Given the description of an element on the screen output the (x, y) to click on. 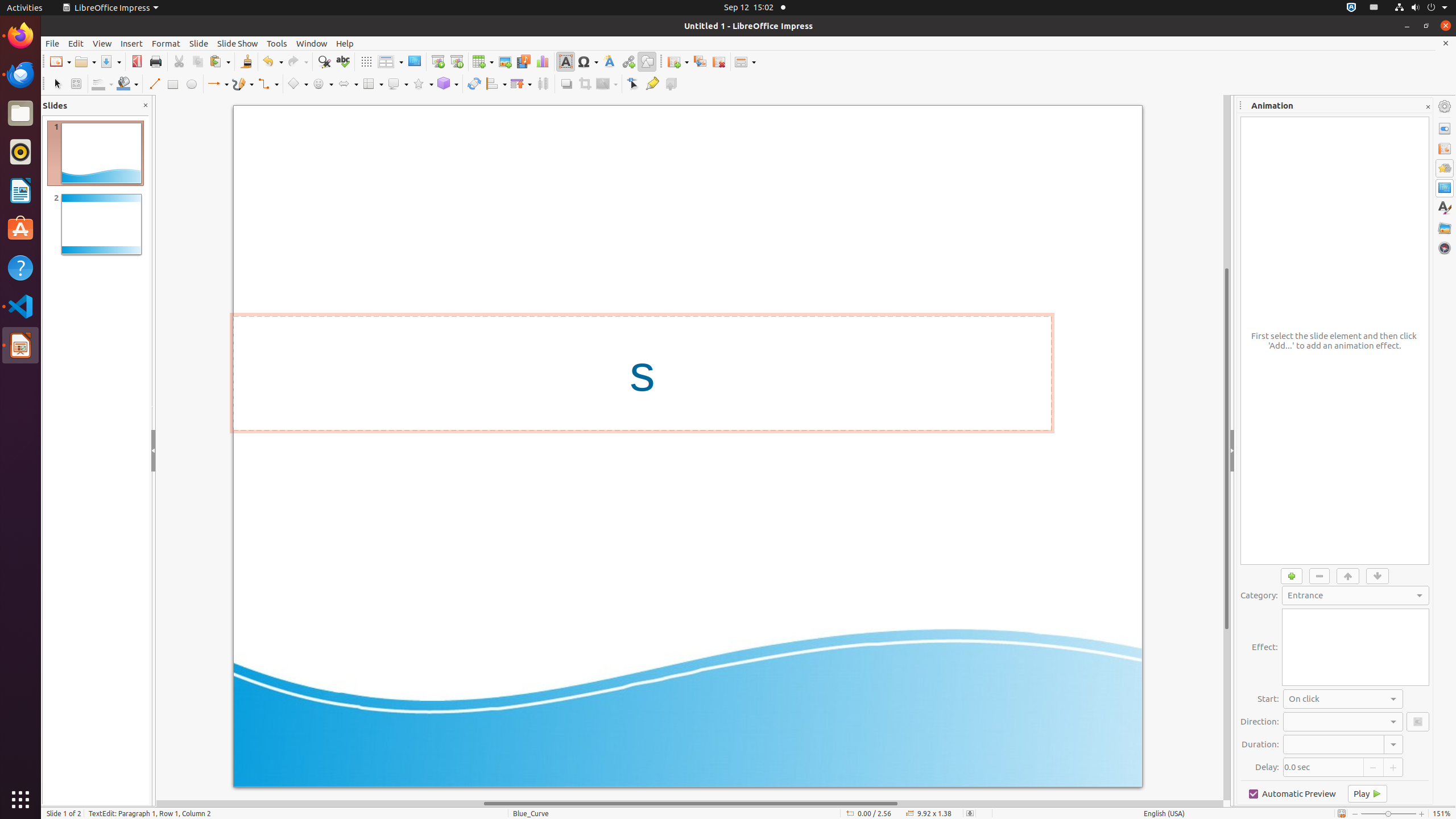
3D Objects Element type: push-button (447, 83)
Lines and Arrows Element type: push-button (217, 83)
Window Element type: menu (311, 43)
Align Element type: push-button (495, 83)
Close Sidebar Deck Element type: push-button (1427, 106)
